Given the description of an element on the screen output the (x, y) to click on. 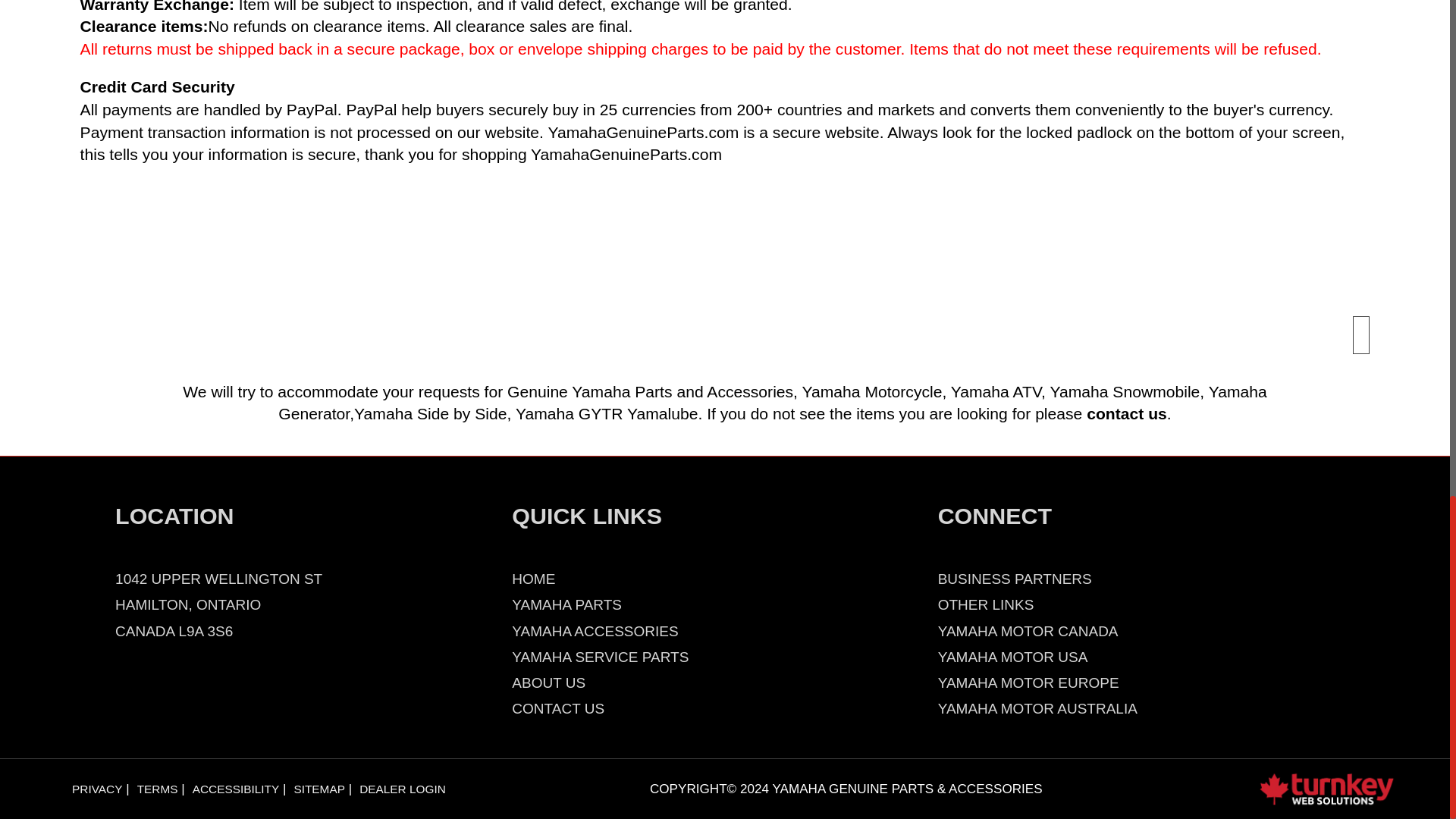
Turnkey Web Solutions (1326, 788)
HOME (533, 578)
YAMAHA MOTOR AUSTRALIA (1037, 708)
ABOUT US (548, 682)
YAMAHA MOTOR EUROPE (1028, 682)
contact us (1126, 413)
BUSINESS PARTNERS (1014, 578)
YAMAHA ACCESSORIES (595, 631)
YAMAHA SERVICE PARTS (600, 657)
OTHER LINKS (985, 604)
PRIVACY (96, 788)
TERMS (156, 788)
YAMAHA MOTOR CANADA (1027, 631)
YAMAHA MOTOR USA (1012, 657)
YAMAHA PARTS (566, 604)
